Given the description of an element on the screen output the (x, y) to click on. 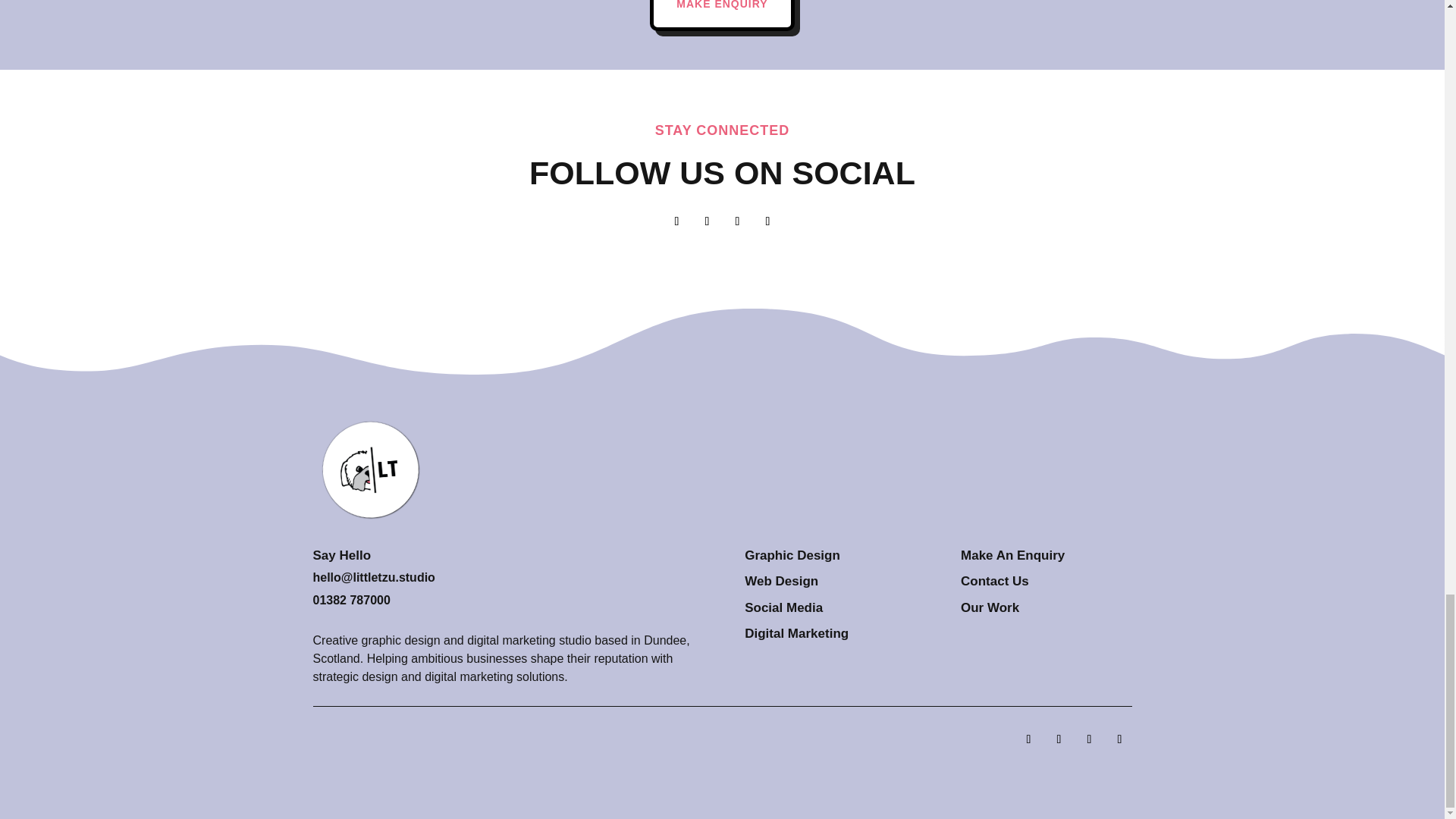
Follow on Instagram (1088, 739)
Follow on X (706, 221)
LTM-Icons-Stickers (364, 464)
Follow on Facebook (675, 221)
Follow on X (1058, 739)
Follow on Facebook (1028, 739)
Follow on TikTok (1118, 739)
Follow on TikTok (766, 221)
Follow on Instagram (737, 221)
